Given the description of an element on the screen output the (x, y) to click on. 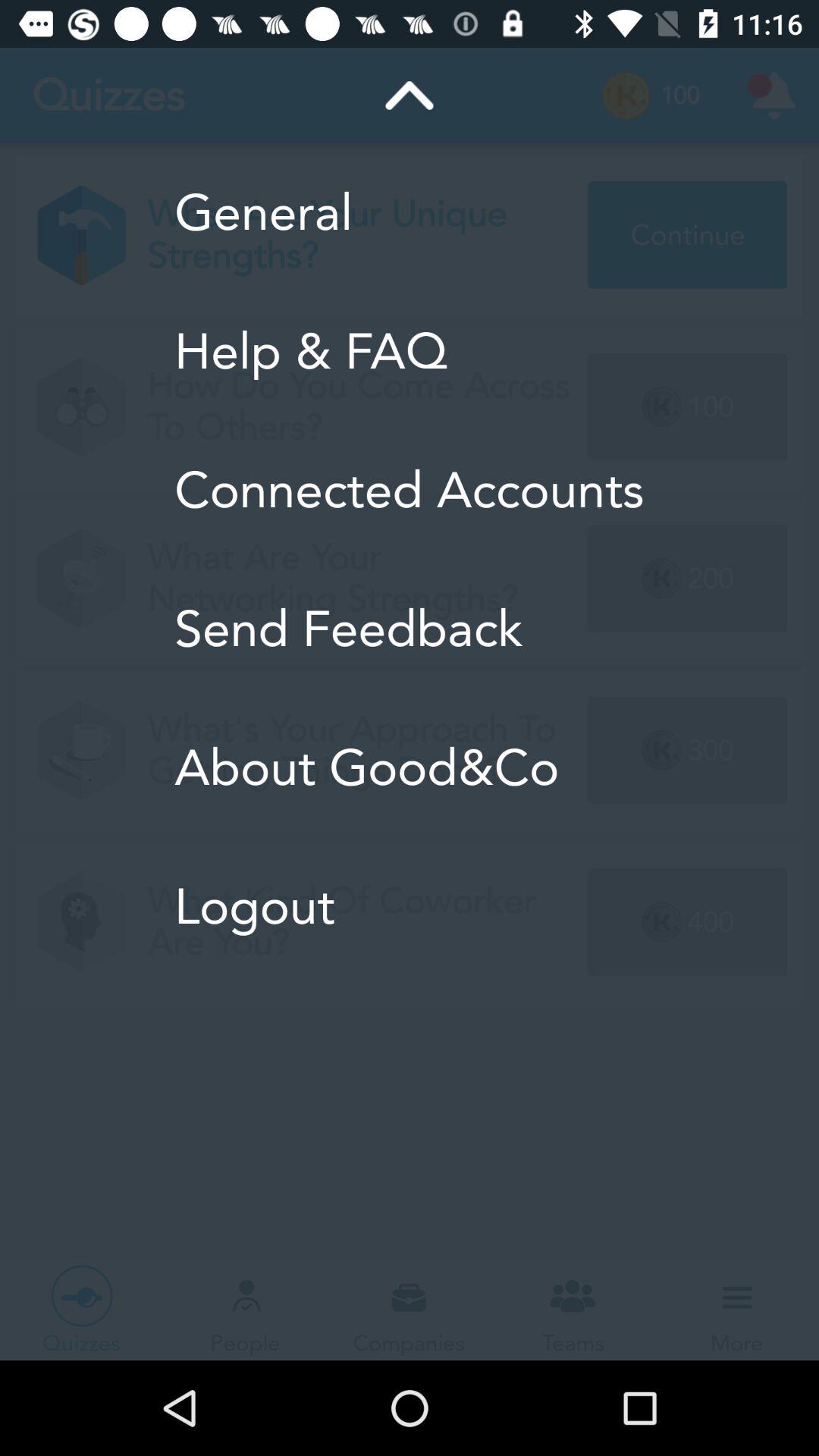
turn off icon above the send feedback icon (408, 489)
